Given the description of an element on the screen output the (x, y) to click on. 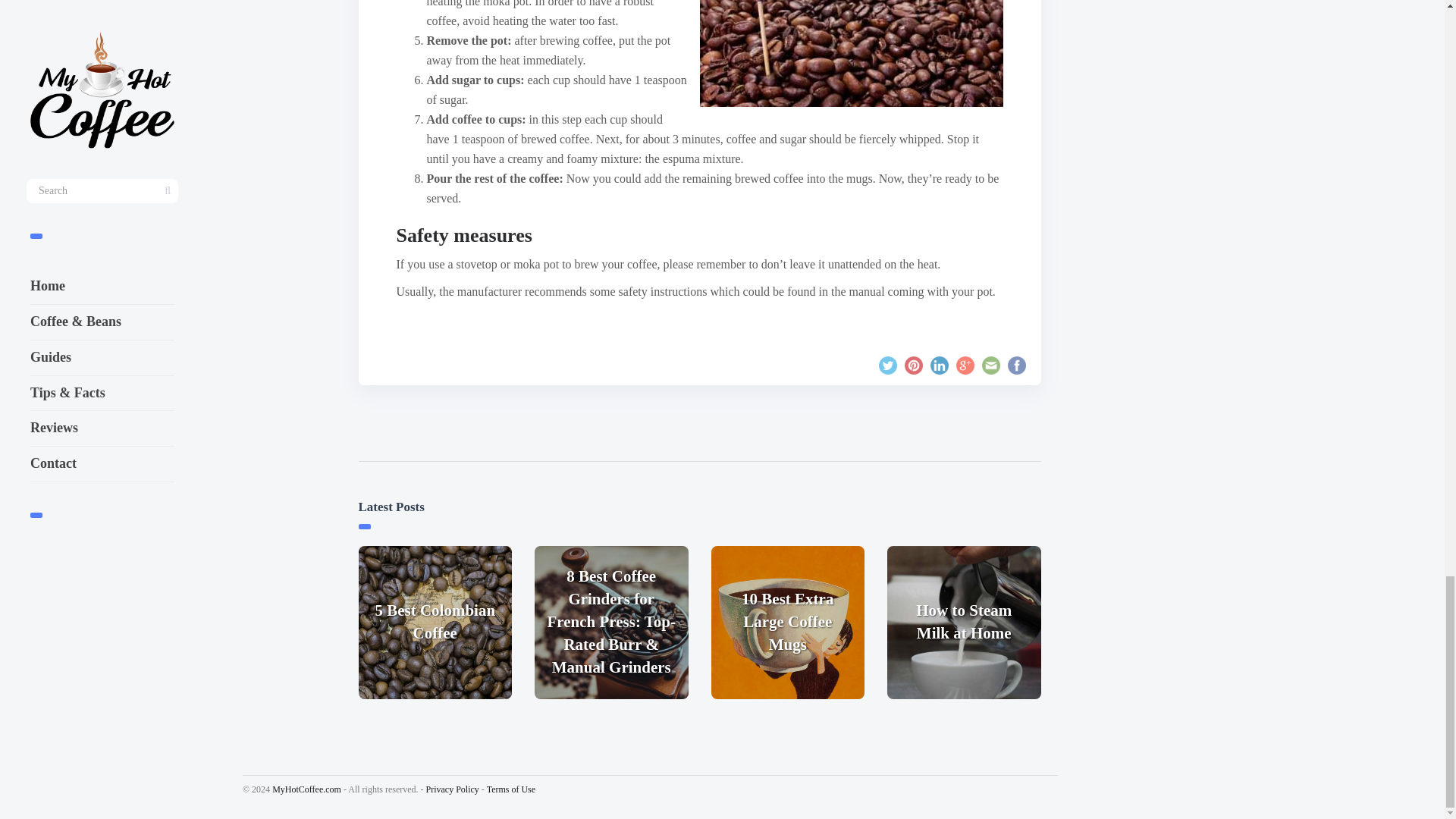
10 Best Extra Large Coffee Mugs (787, 623)
5 Best Colombian Coffee (435, 623)
Email (989, 365)
Twitter (886, 365)
How to Steam Milk at Home (963, 623)
Linkedin (938, 365)
Facebook (1016, 365)
Pinterest (912, 365)
